Given the description of an element on the screen output the (x, y) to click on. 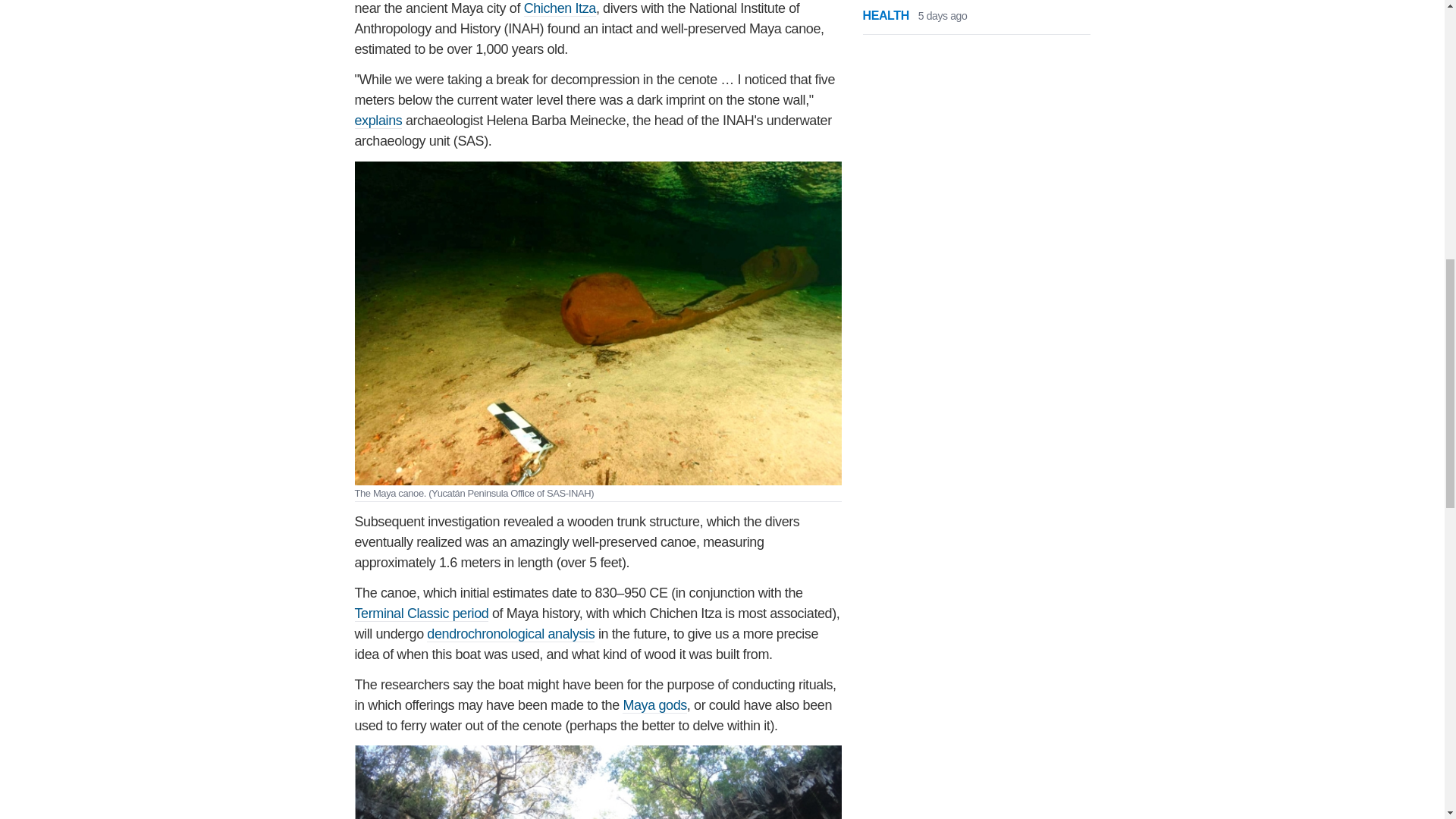
dendrochronological analysis (510, 634)
Chichen Itza (559, 8)
explains (379, 120)
Terminal Classic period (422, 613)
